Given the description of an element on the screen output the (x, y) to click on. 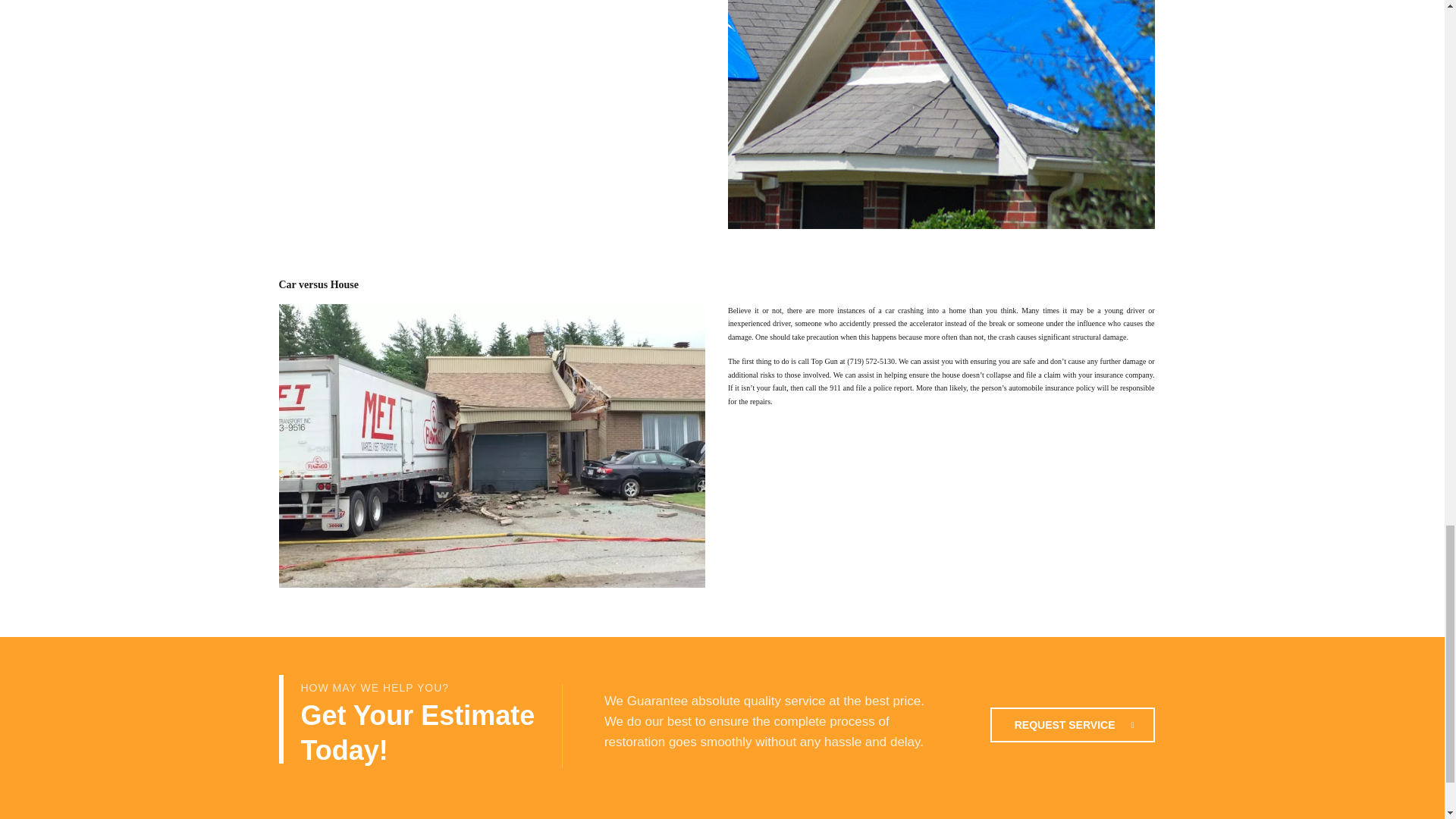
Contact Us (1072, 724)
